Given the description of an element on the screen output the (x, y) to click on. 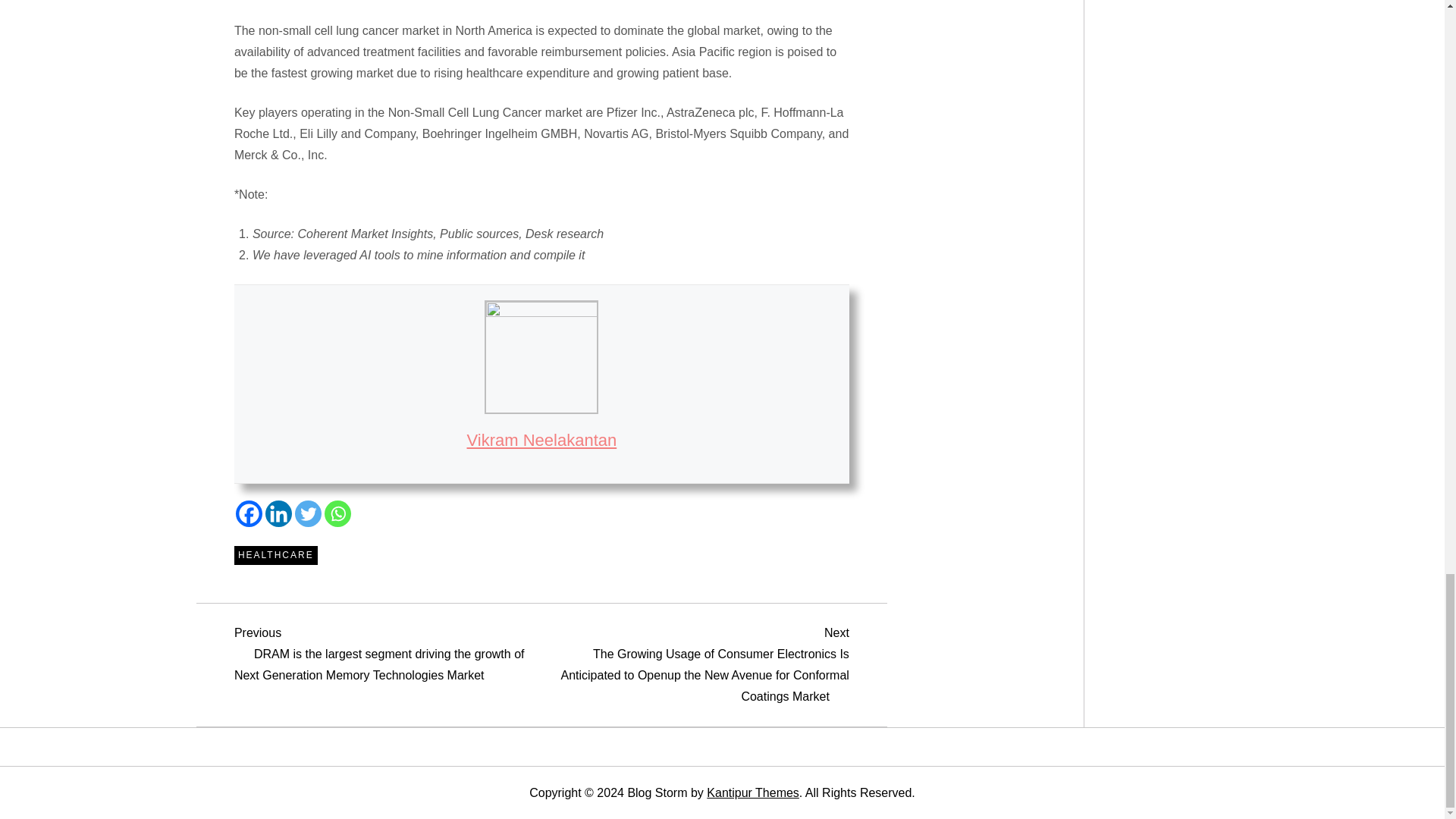
Linkedin (278, 513)
Facebook (248, 513)
Whatsapp (337, 513)
Kantipur Themes (752, 792)
Twitter (308, 513)
Vikram Neelakantan (542, 439)
HEALTHCARE (275, 555)
